Given the description of an element on the screen output the (x, y) to click on. 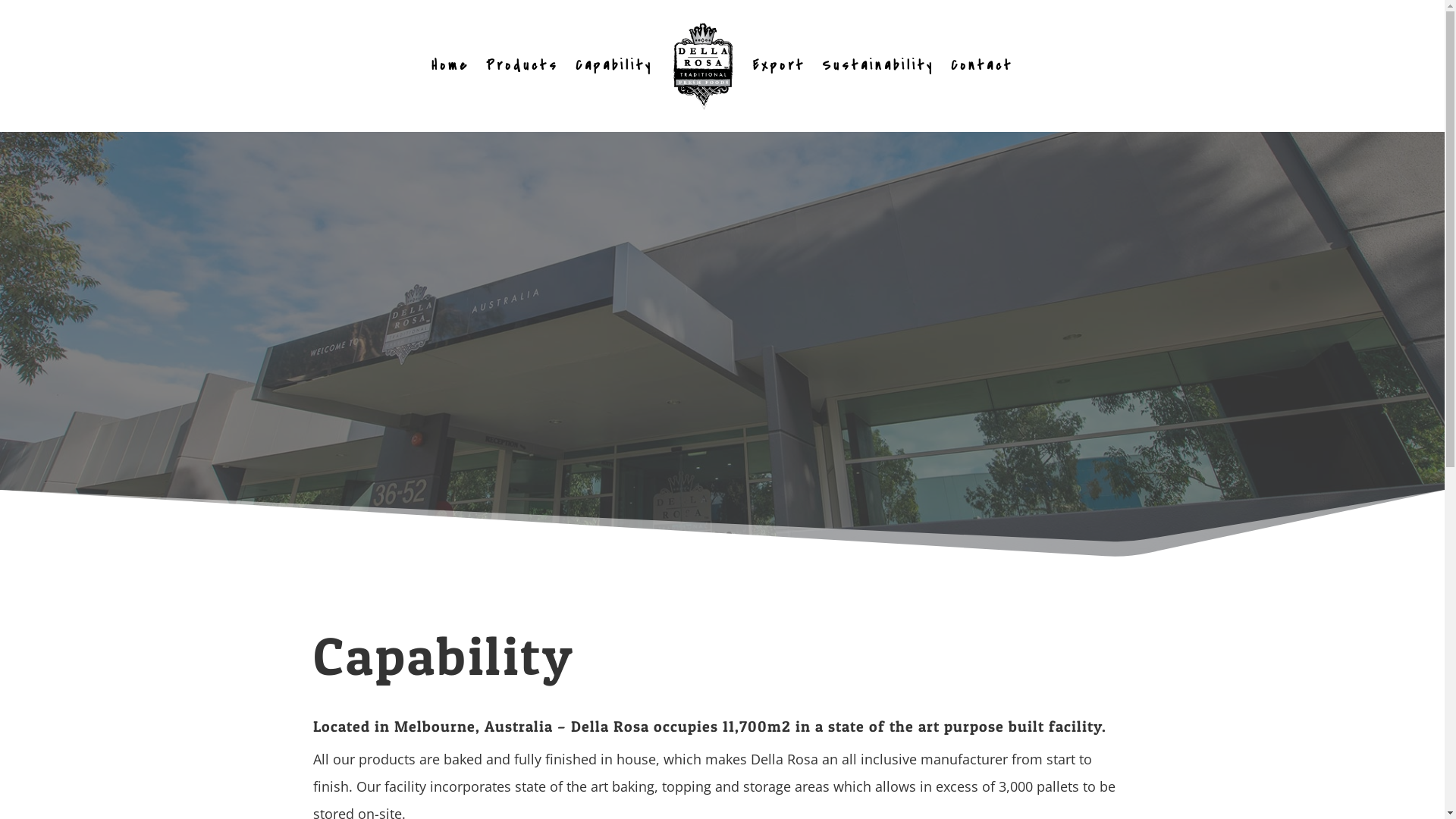
Products Element type: text (522, 65)
Home Element type: text (450, 65)
2 Element type: text (728, 533)
1 Element type: text (715, 533)
Contact Element type: text (981, 65)
Export Element type: text (779, 65)
Capability Element type: text (613, 65)
Sustainability Element type: text (878, 65)
